Given the description of an element on the screen output the (x, y) to click on. 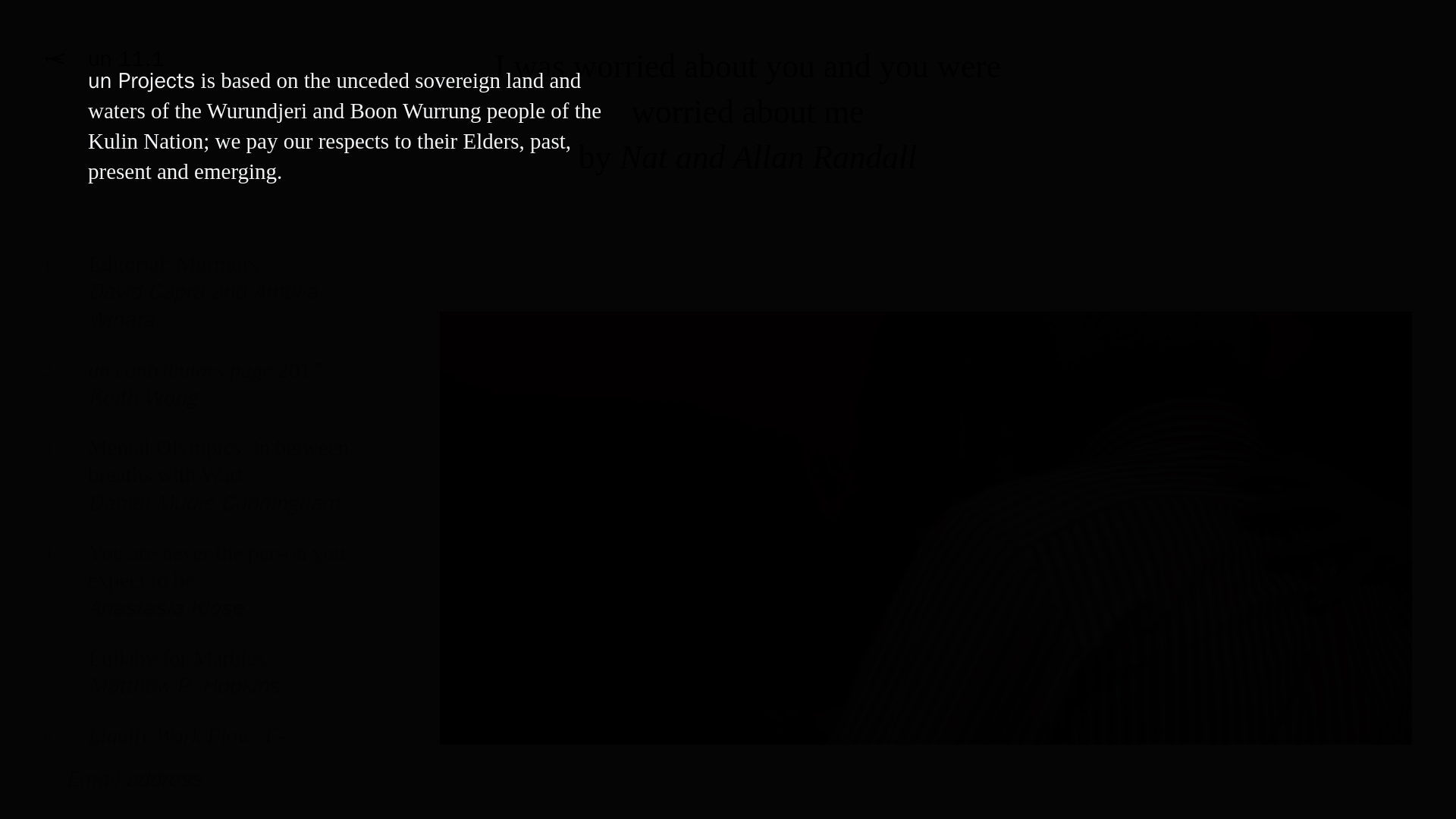
Posts by Nat and Allan Randall (197, 683)
Nat and Allan Randall (197, 591)
